Given the description of an element on the screen output the (x, y) to click on. 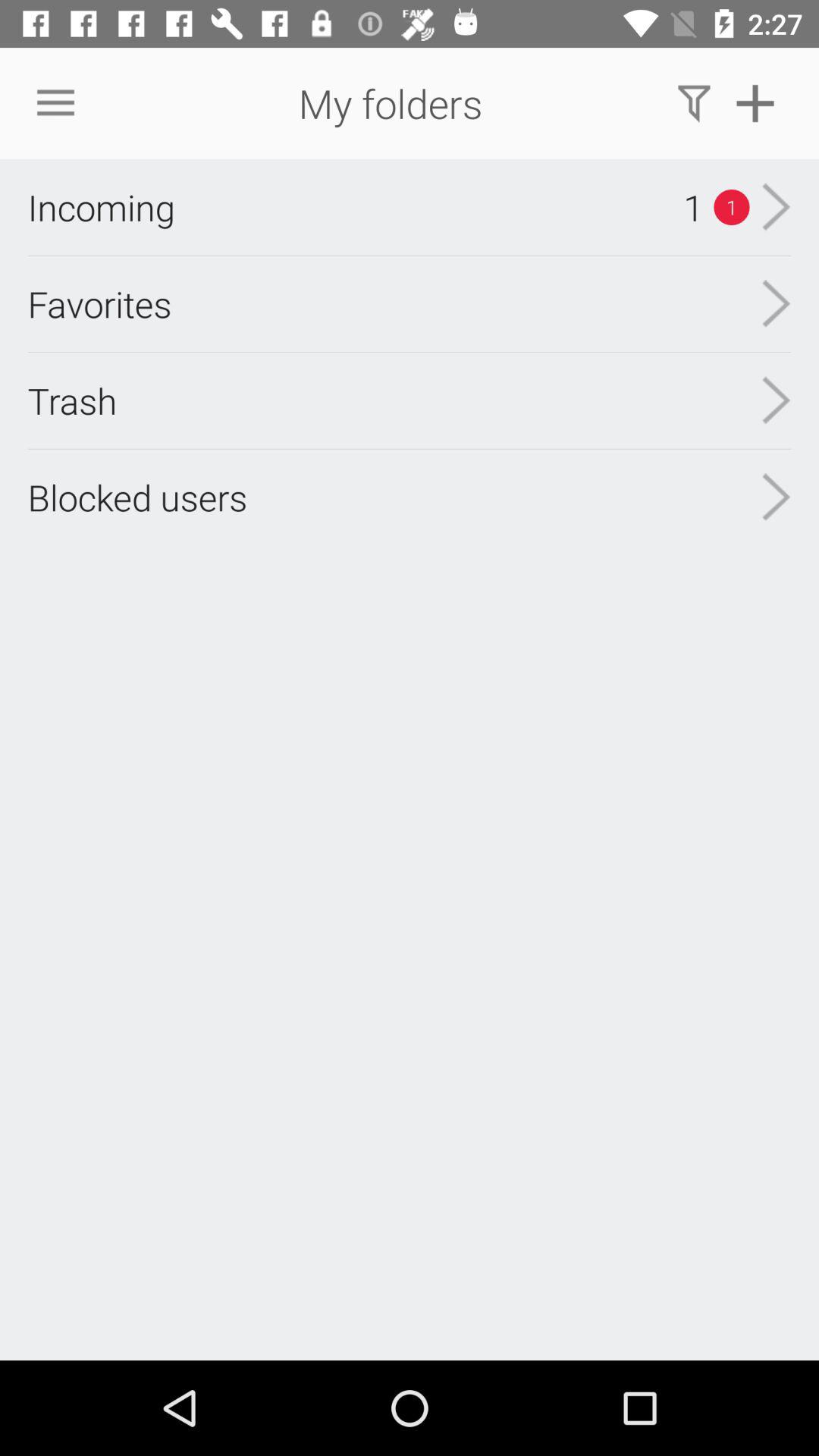
turn on the item above favorites (101, 207)
